Given the description of an element on the screen output the (x, y) to click on. 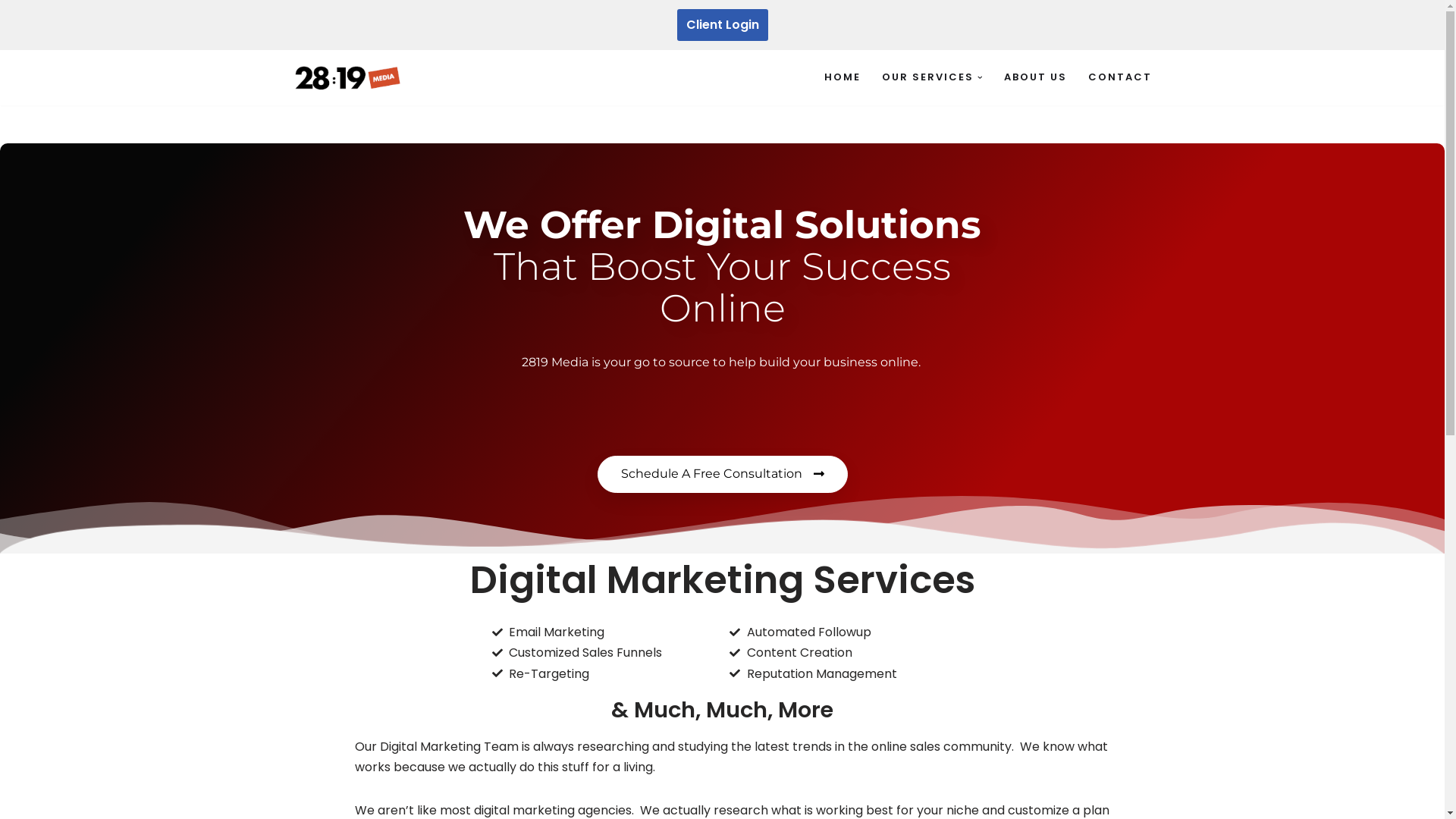
HOME Element type: text (842, 77)
Schedule A Free Consultation Element type: text (722, 473)
Client Login Element type: text (721, 24)
Skip to content Element type: text (11, 31)
OUR SERVICES Element type: text (927, 77)
CONTACT Element type: text (1119, 77)
ABOUT US Element type: text (1035, 77)
